Given the description of an element on the screen output the (x, y) to click on. 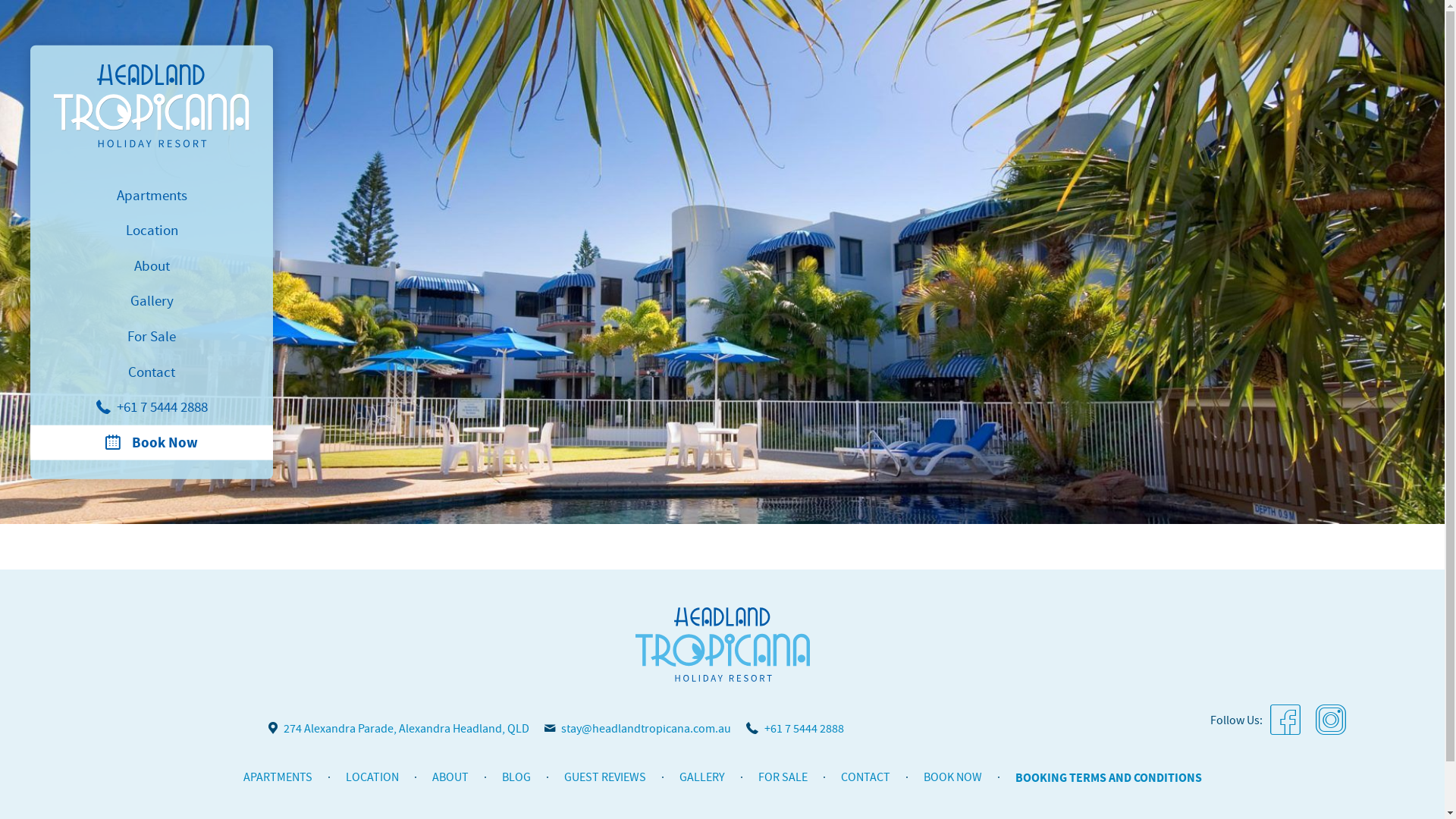
274 Alexandra Parade, Alexandra Headland, QLD Element type: text (398, 728)
Headland Tropicana Element type: hover (151, 105)
For Sale Element type: text (151, 336)
BOOKING TERMS AND CONDITIONS Element type: text (1107, 777)
stay@headlandtropicana.com.au Element type: text (637, 728)
BOOK NOW Element type: text (952, 776)
APARTMENTS Element type: text (276, 776)
LOCATION Element type: text (371, 776)
+61 7 5444 2888 Element type: text (151, 407)
GUEST REVIEWS Element type: text (605, 776)
GALLERY Element type: text (701, 776)
Gallery Element type: text (151, 301)
Book Now Element type: text (151, 442)
Apartments Element type: text (151, 195)
Contact Element type: text (151, 371)
CONTACT Element type: text (864, 776)
Location Element type: text (151, 230)
About Element type: text (151, 265)
ABOUT Element type: text (450, 776)
+61 7 5444 2888 Element type: text (795, 728)
BLOG Element type: text (516, 776)
FOR SALE Element type: text (782, 776)
